Given the description of an element on the screen output the (x, y) to click on. 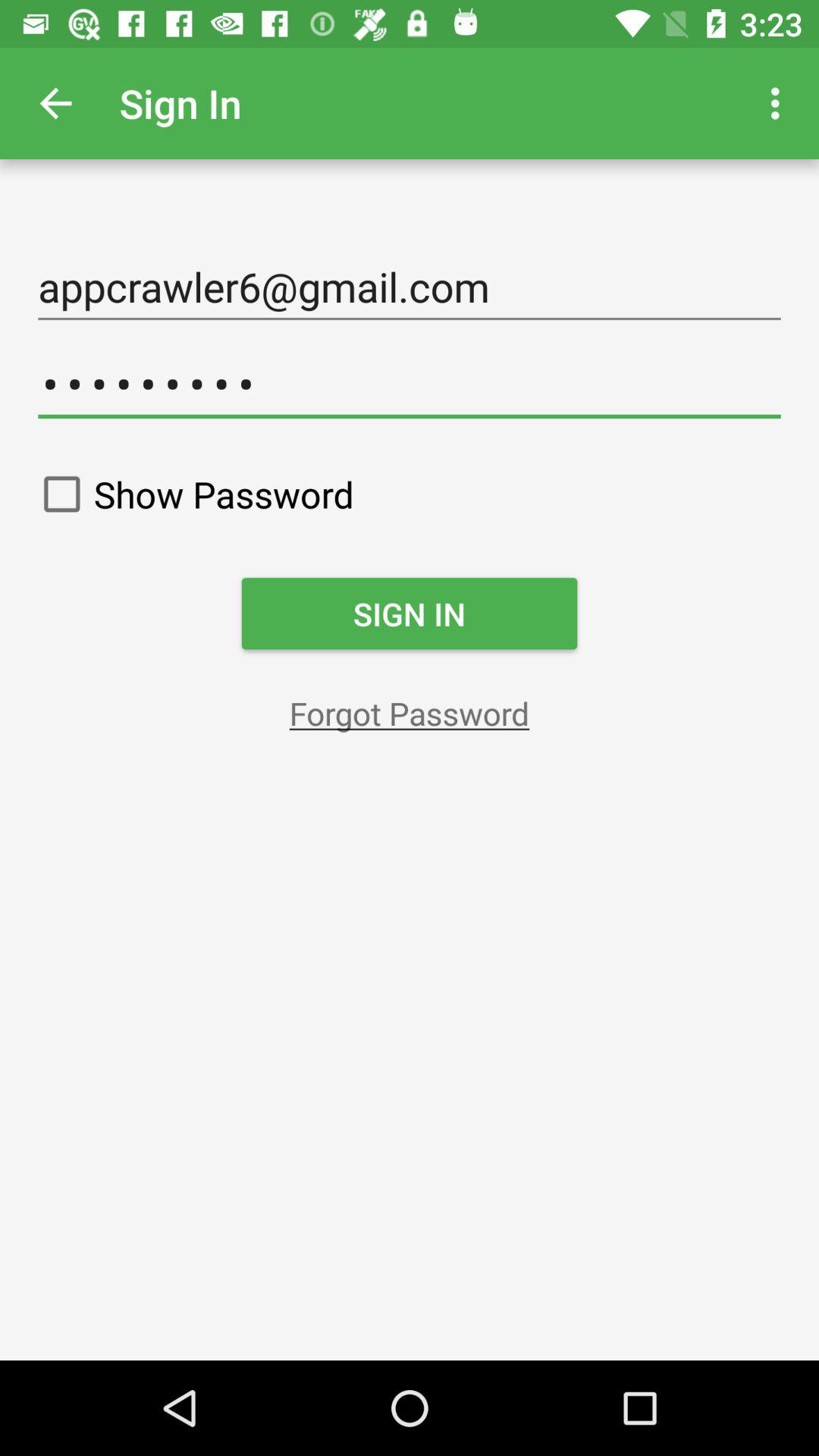
choose app to the right of the sign in item (779, 103)
